Given the description of an element on the screen output the (x, y) to click on. 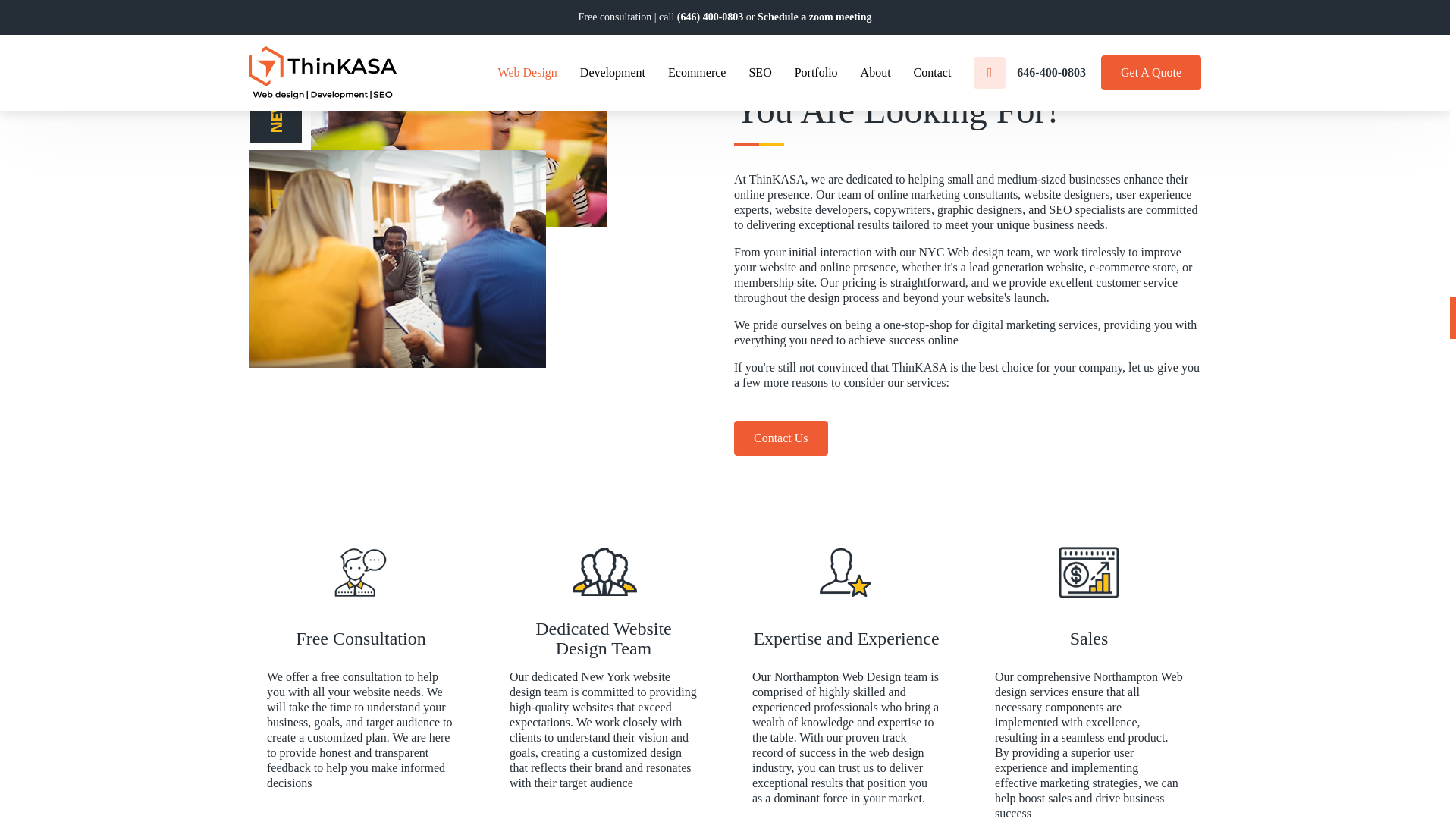
Contact Us (780, 437)
